Given the description of an element on the screen output the (x, y) to click on. 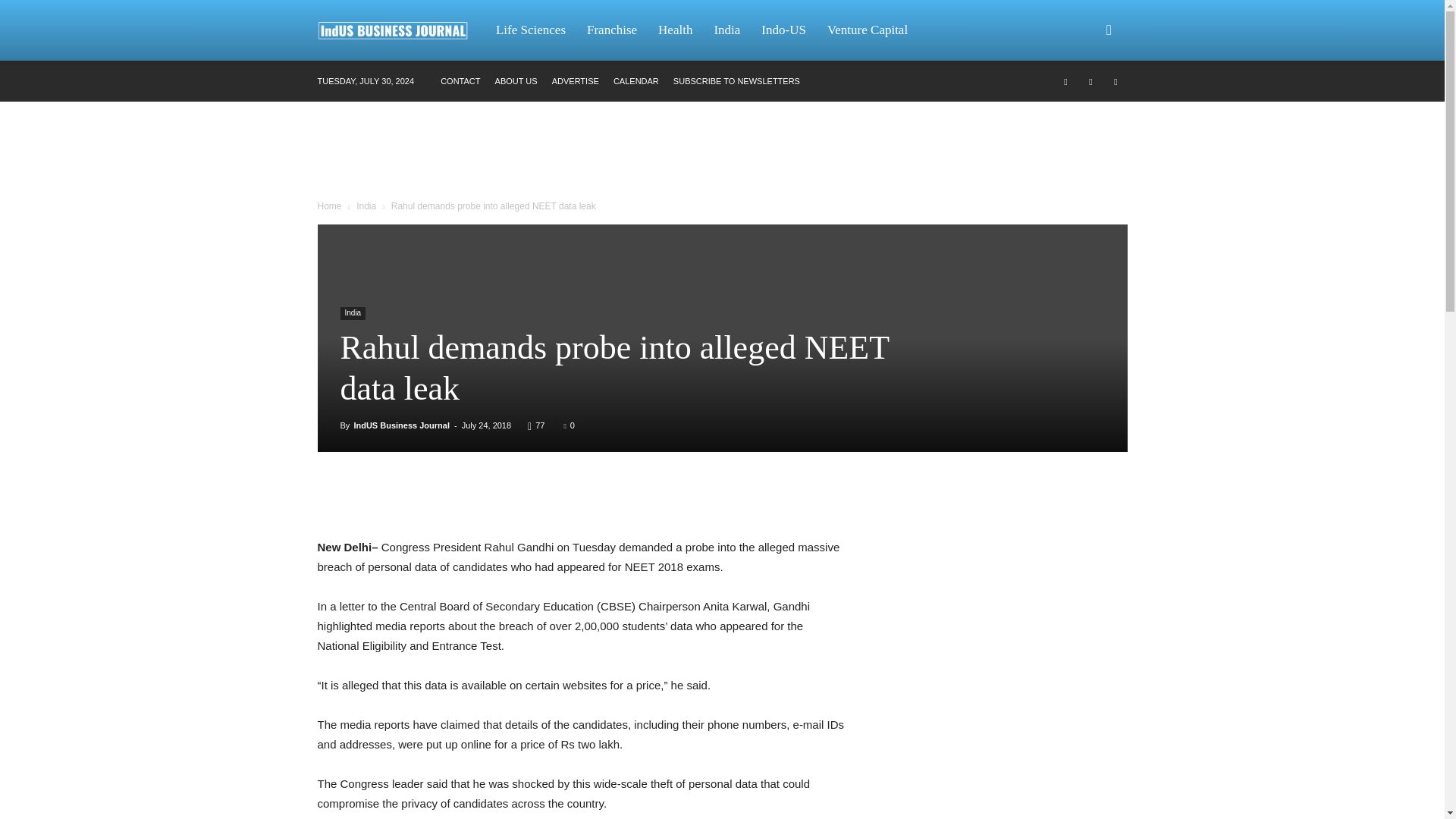
CONTACT (460, 80)
Life Sciences (530, 30)
India (365, 205)
Health (675, 30)
Home (328, 205)
India (352, 313)
IndUS Business Journal (400, 30)
View all posts in India (365, 205)
ADVERTISE (574, 80)
SUBSCRIBE TO NEWSLETTERS (735, 80)
0 (569, 424)
Search (1085, 102)
CALENDAR (635, 80)
Indo-US (783, 30)
IndUS Business Journal (401, 424)
